Given the description of an element on the screen output the (x, y) to click on. 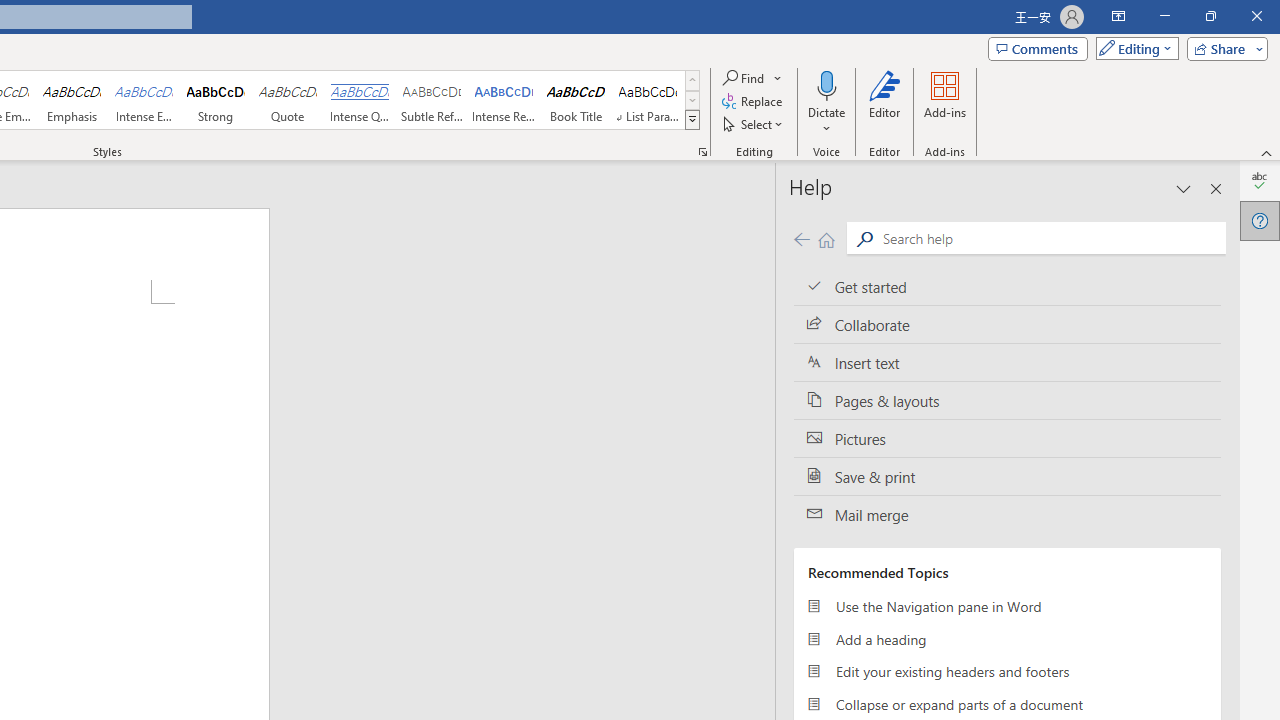
Mail merge (1007, 515)
Add a heading (1007, 638)
